Given the description of an element on the screen output the (x, y) to click on. 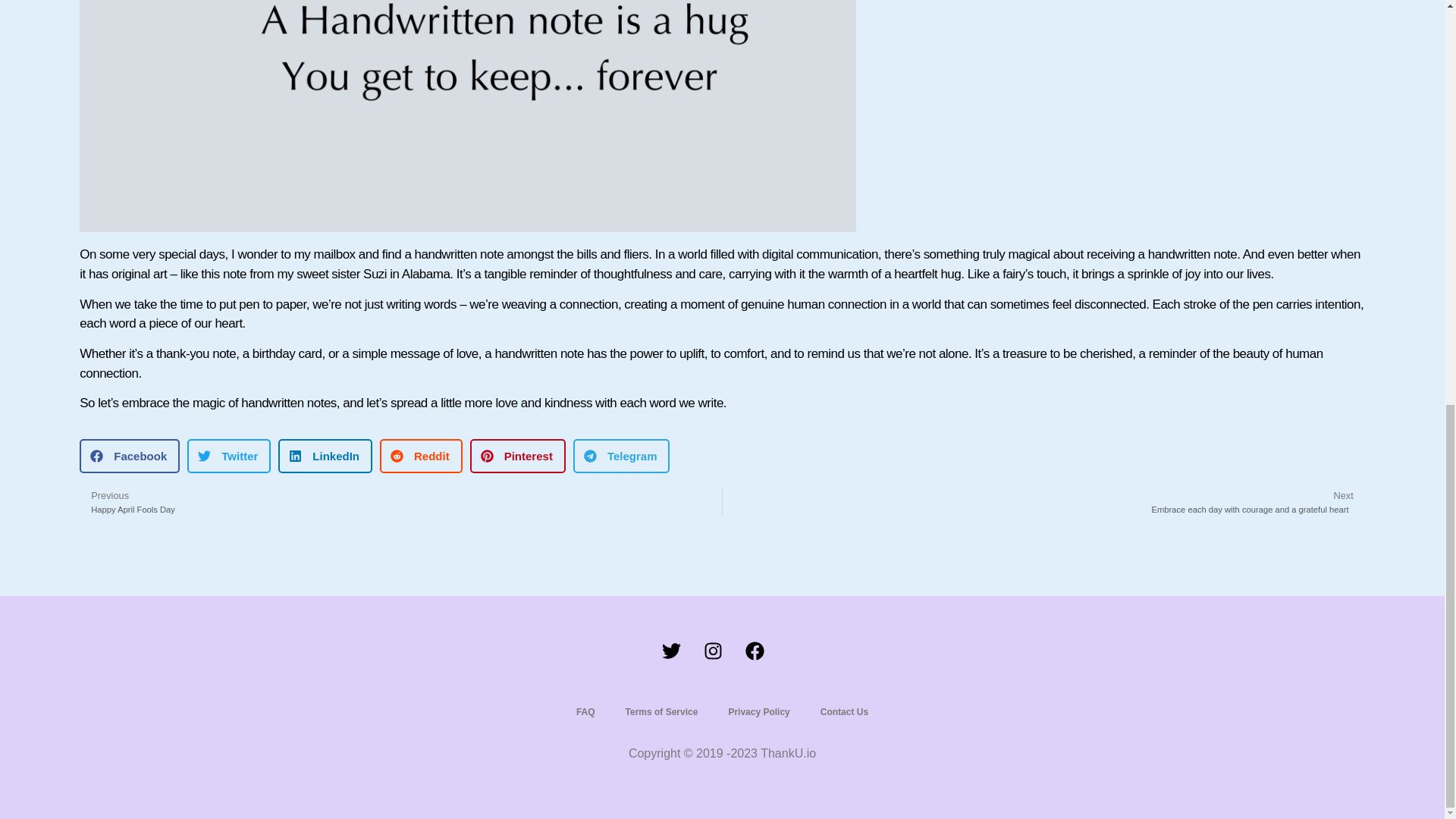
Contact Us (401, 501)
Privacy Policy (844, 711)
FAQ (759, 711)
Terms of Service (585, 711)
